Given the description of an element on the screen output the (x, y) to click on. 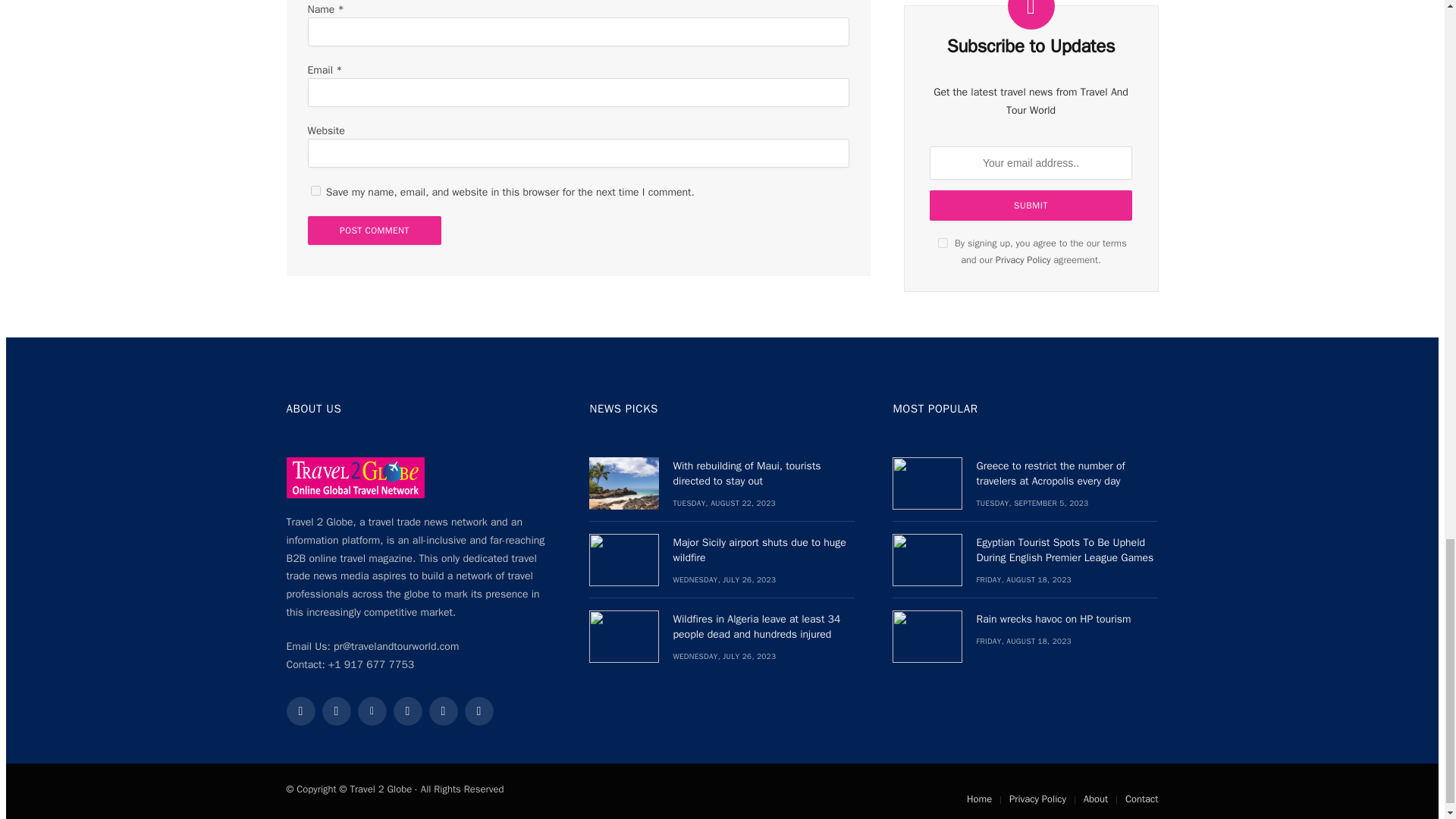
on (942, 229)
yes (315, 190)
Submit (1031, 191)
Post Comment (374, 230)
Major Sicily airport shuts due to huge wildfire (624, 559)
Rain wrecks havoc on HP tourism (927, 636)
With rebuilding of Maui, tourists directed to stay out (624, 483)
